Given the description of an element on the screen output the (x, y) to click on. 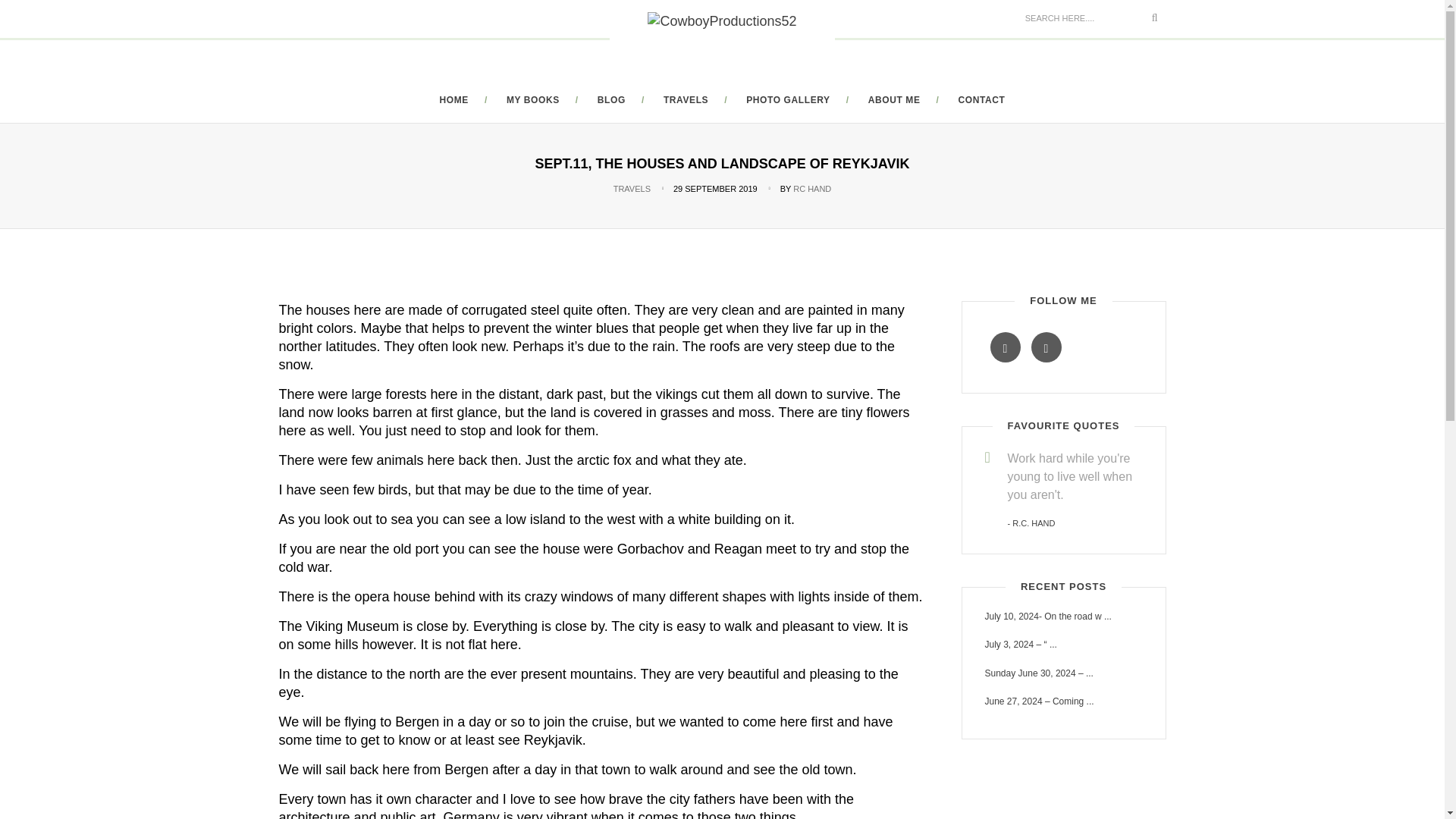
July 10, 2024- On the road w ... (1062, 616)
HOME (453, 100)
BLOG (611, 100)
PHOTO GALLERY (787, 100)
CONTACT (982, 100)
MY BOOKS (532, 100)
ABOUT ME (893, 100)
TRAVELS (685, 100)
RC HAND (812, 188)
TRAVELS (631, 188)
